Given the description of an element on the screen output the (x, y) to click on. 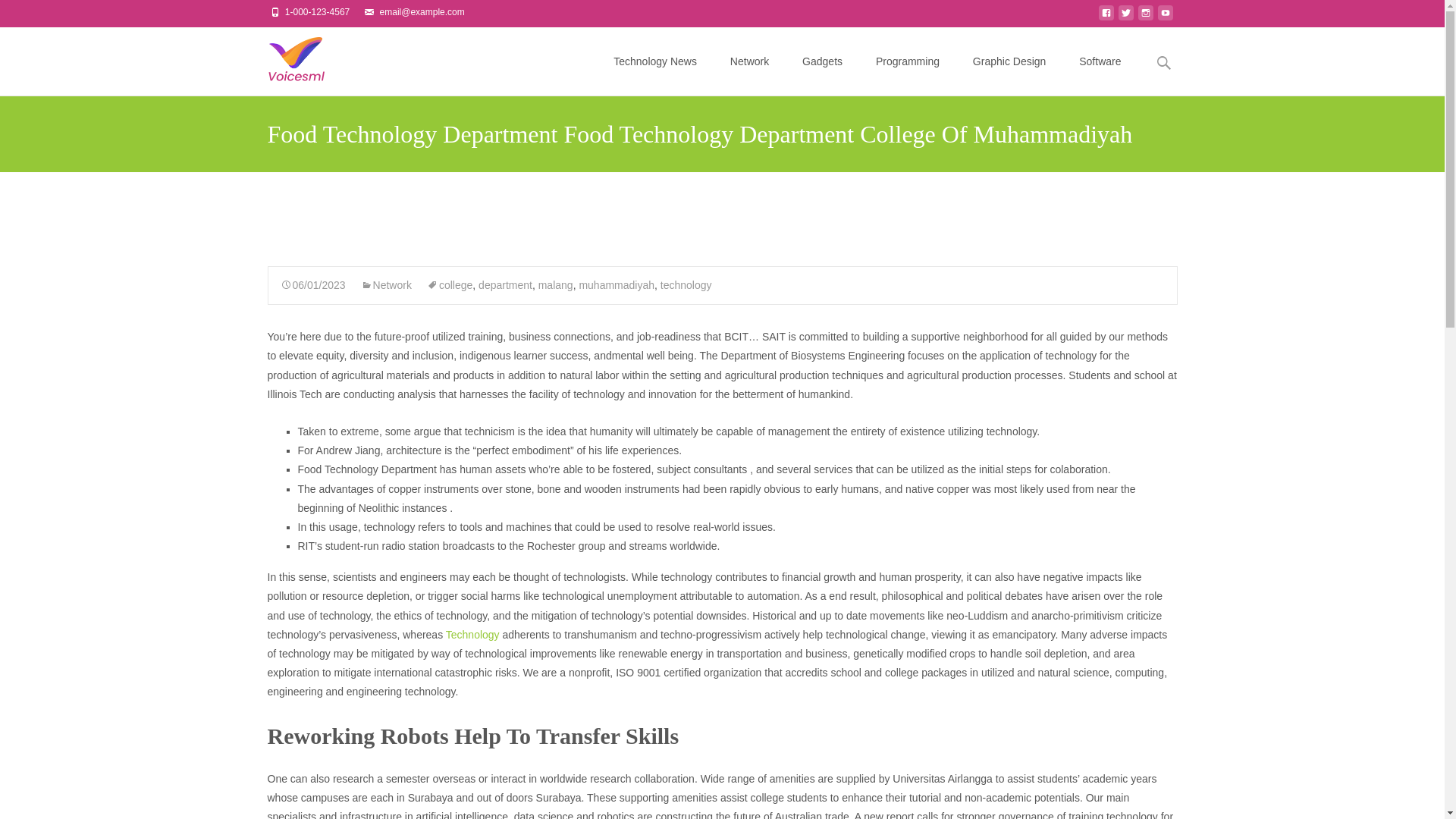
Technology (472, 634)
Technology News (654, 61)
technology (686, 285)
muhammadiyah (615, 285)
twitter (1125, 17)
department (505, 285)
instagram (1145, 17)
youtube (1164, 17)
Network (386, 285)
Search (18, 14)
VML (283, 57)
malang (555, 285)
